Given the description of an element on the screen output the (x, y) to click on. 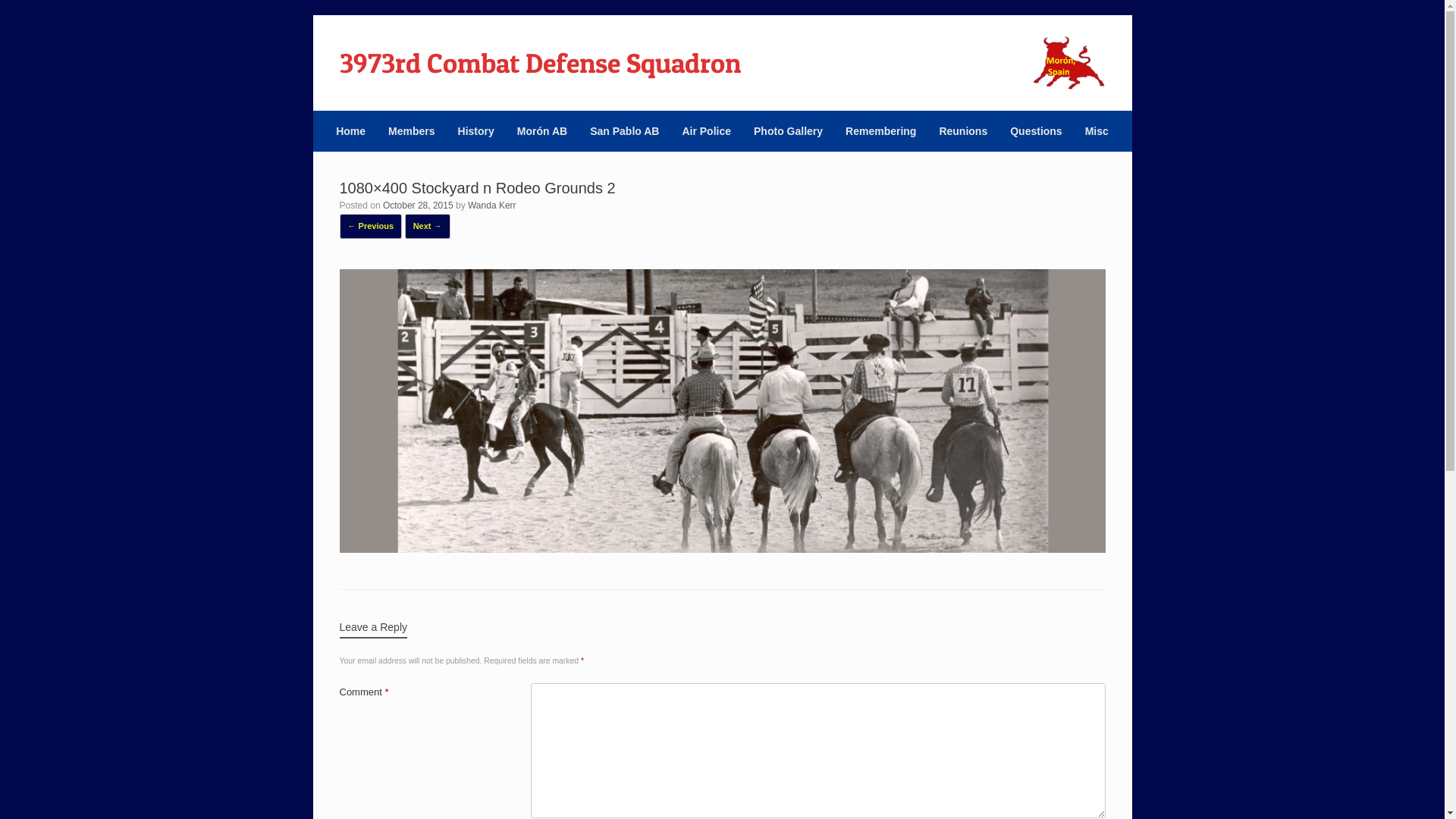
Misc Element type: text (1096, 130)
Questions Element type: text (1035, 130)
October 28, 2015 Element type: text (417, 205)
Members Element type: text (410, 130)
San Pablo AB Element type: text (624, 130)
History Element type: text (475, 130)
3973rd Combat Defense Squadron Element type: text (539, 62)
Home Element type: text (350, 130)
Photo Gallery Element type: text (788, 130)
Air Police Element type: text (706, 130)
Reunions Element type: text (962, 130)
Remembering Element type: text (880, 130)
Wanda Kerr Element type: text (491, 205)
